Given the description of an element on the screen output the (x, y) to click on. 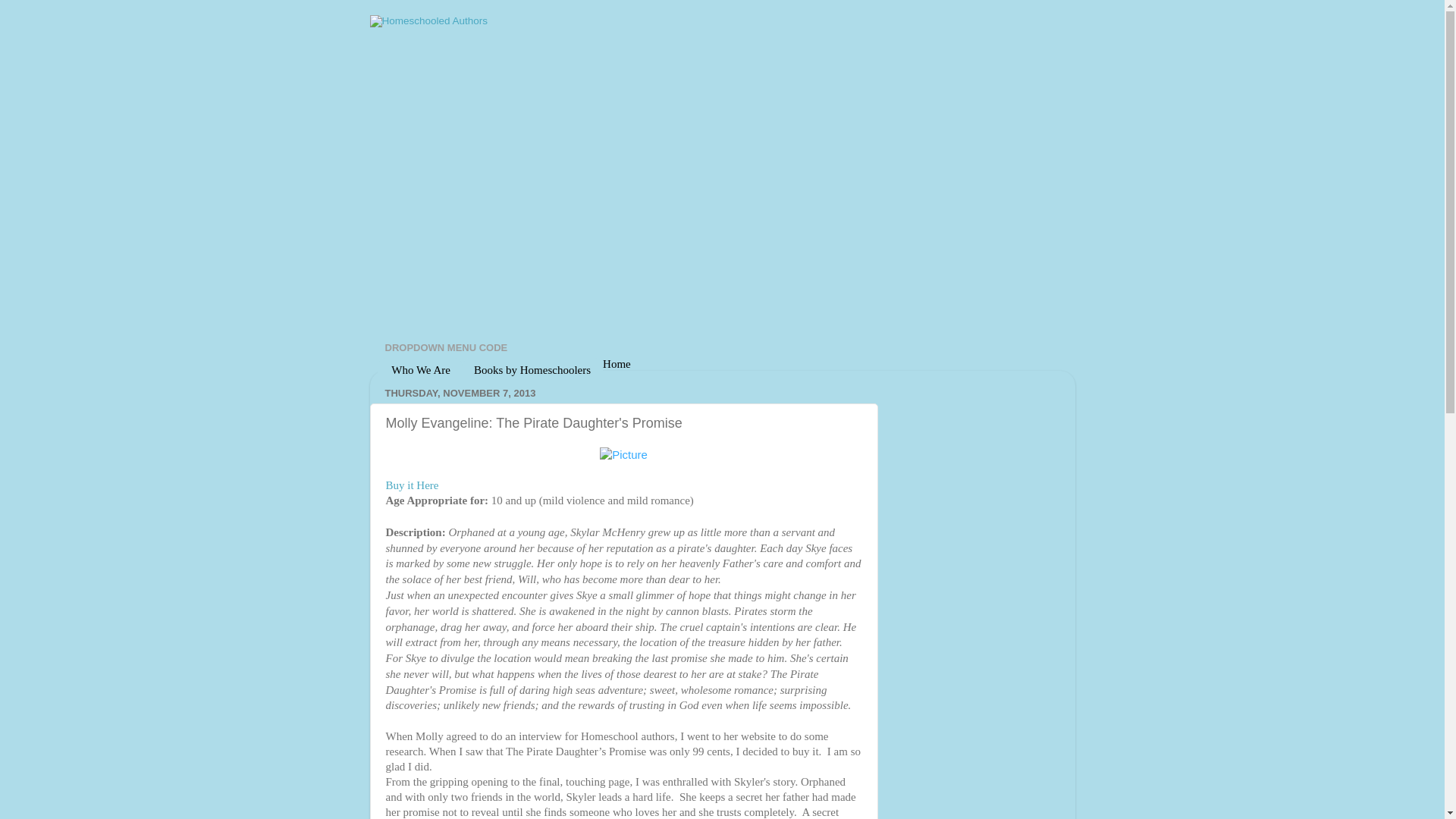
Books by Homeschoolers (532, 369)
Buy it Here (411, 485)
Who We Are (420, 369)
